Given the description of an element on the screen output the (x, y) to click on. 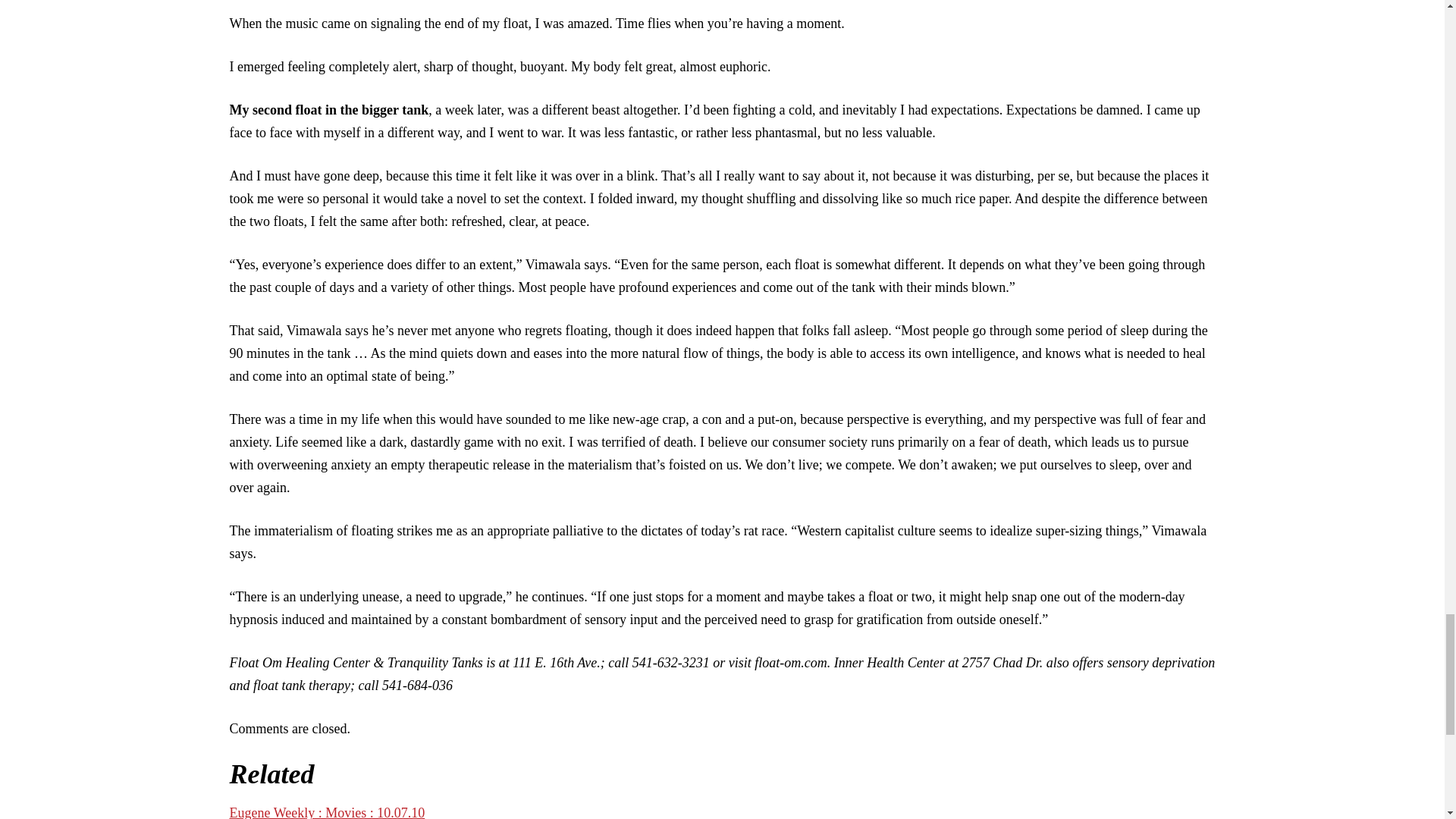
Eugene Weekly : Movies : 10.07.10 (326, 812)
